Given the description of an element on the screen output the (x, y) to click on. 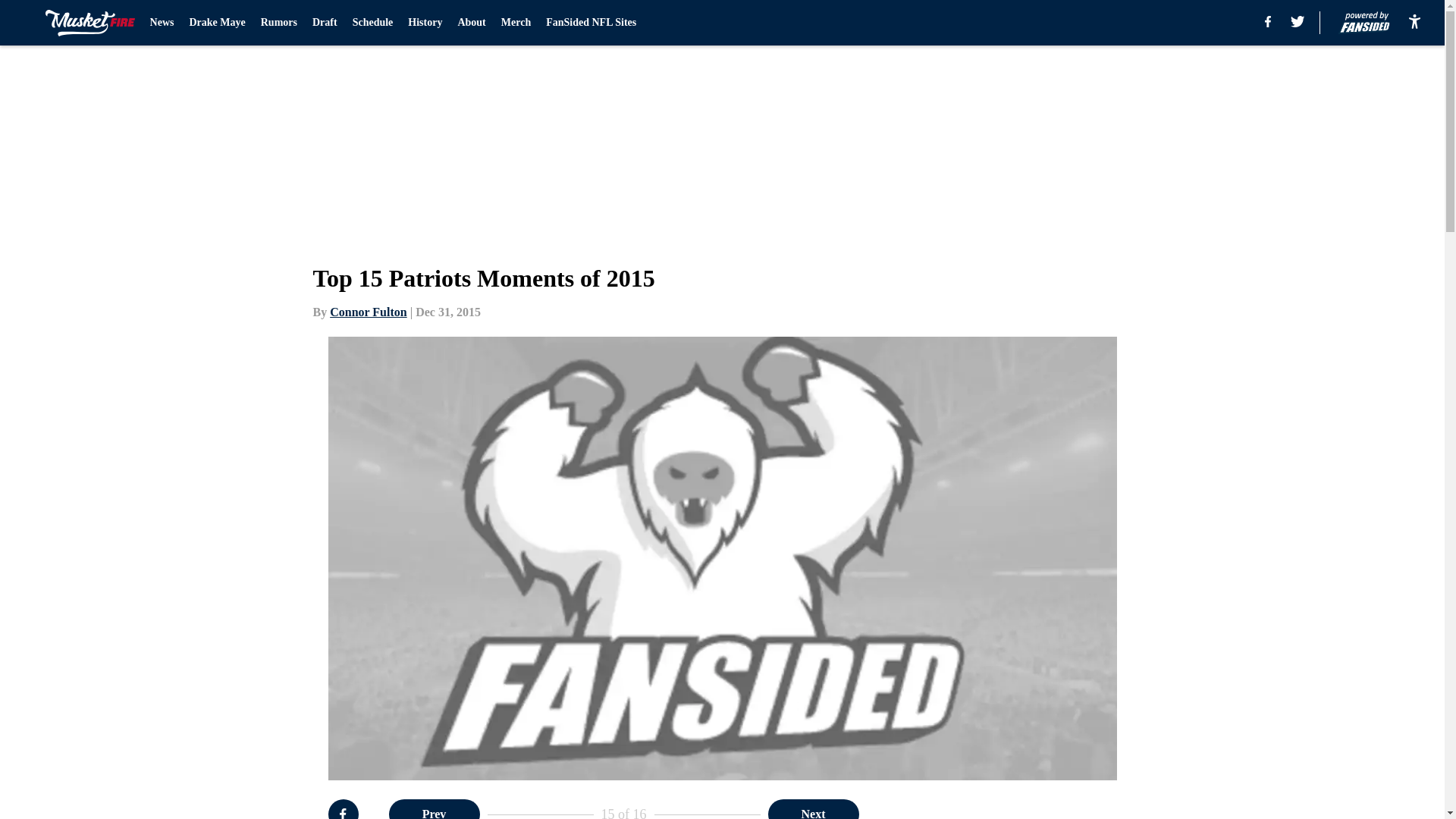
History (424, 22)
About (470, 22)
Schedule (372, 22)
Draft (325, 22)
Rumors (278, 22)
Prev (433, 809)
FanSided NFL Sites (591, 22)
Drake Maye (216, 22)
Connor Fulton (368, 311)
News (161, 22)
